Given the description of an element on the screen output the (x, y) to click on. 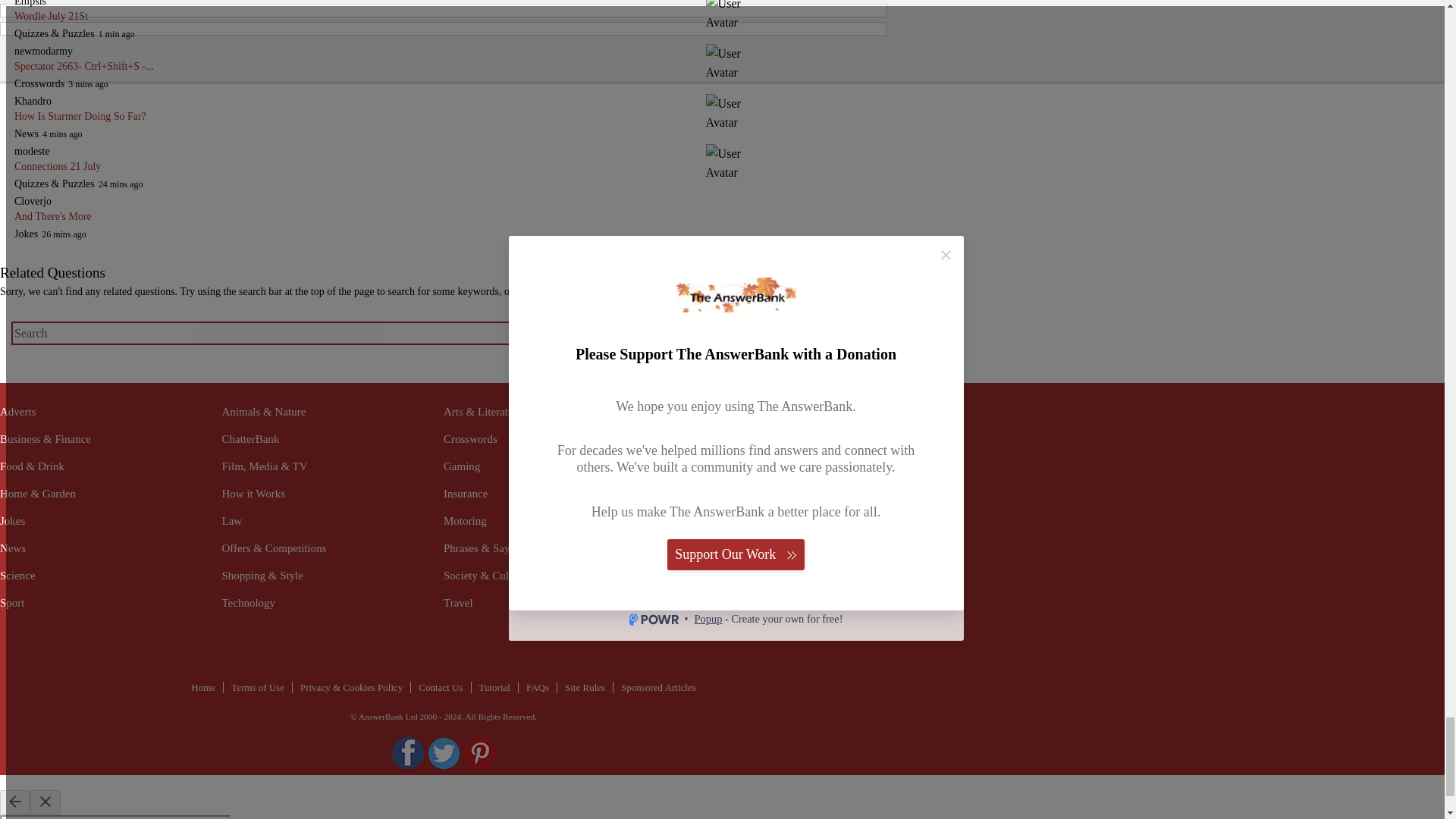
GO (866, 332)
GO (866, 332)
